Given the description of an element on the screen output the (x, y) to click on. 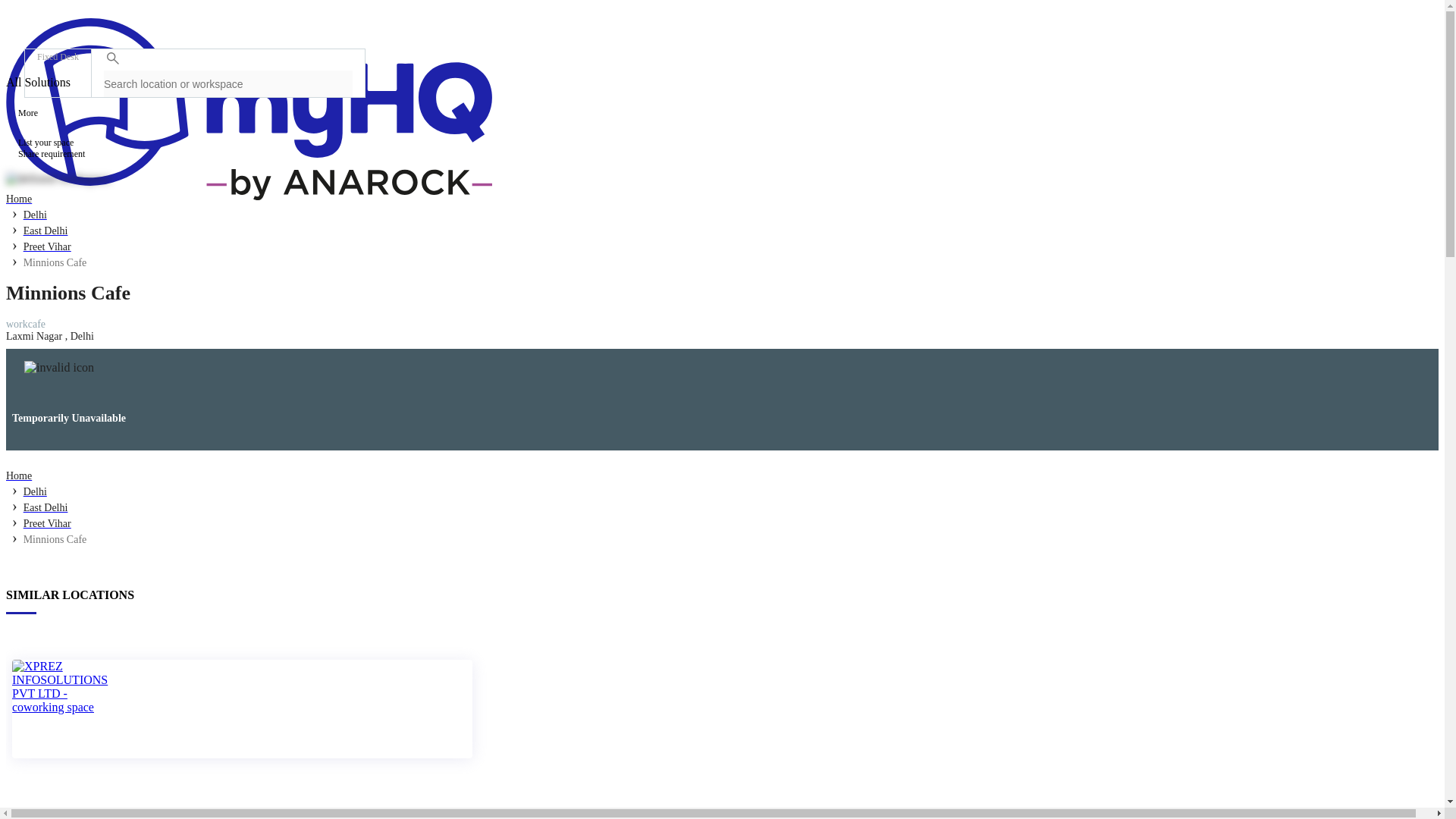
East Delhi (45, 506)
Delhi (34, 214)
Minnions Cafe (55, 261)
Delhi (34, 490)
Preet Vihar (47, 245)
Home (18, 197)
Preet Vihar (47, 522)
Home (18, 474)
Minnions Cafe (55, 538)
East Delhi (45, 229)
